Given the description of an element on the screen output the (x, y) to click on. 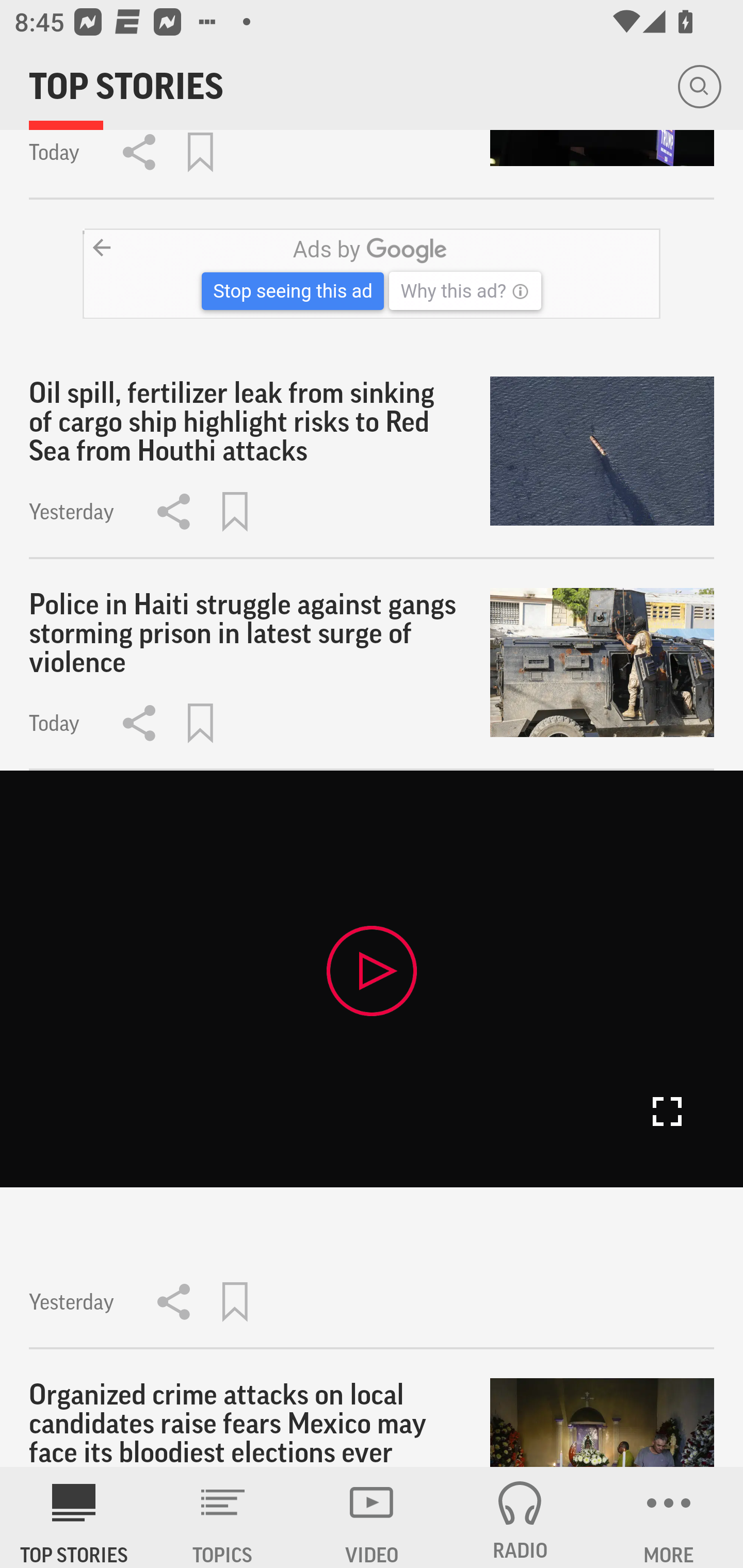
toggle controls Play Fullscreen Yesterday (371, 1059)
toggle controls Play Fullscreen (371, 977)
Play (371, 970)
Fullscreen (666, 1111)
AP News TOP STORIES (74, 1517)
TOPICS (222, 1517)
VIDEO (371, 1517)
RADIO (519, 1517)
MORE (668, 1517)
